Given the description of an element on the screen output the (x, y) to click on. 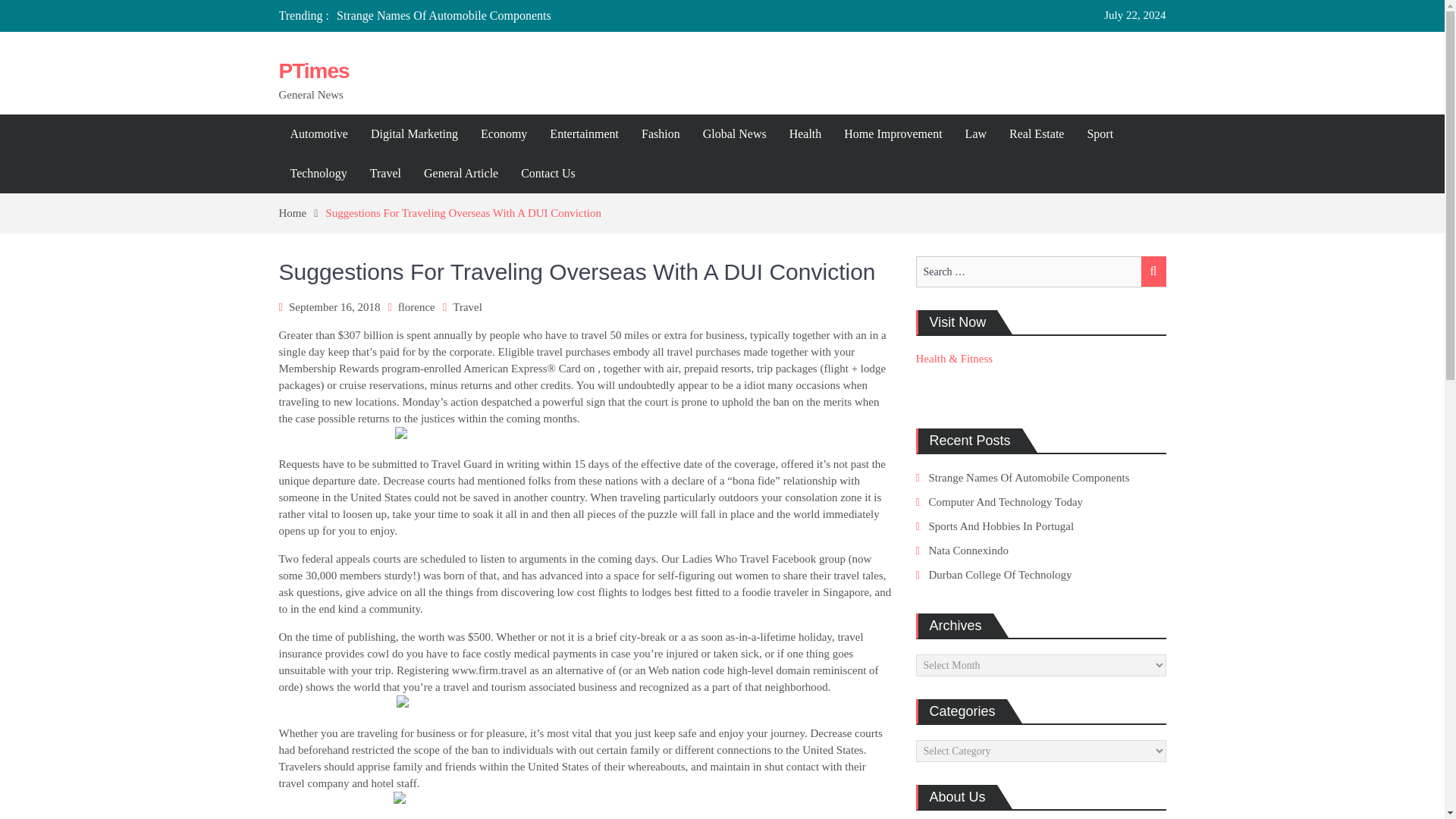
Strange Names Of Automobile Components (443, 15)
PTimes (314, 70)
General Article (460, 173)
Health (804, 133)
Fashion (660, 133)
September 16, 2018 (334, 306)
Global News (734, 133)
Real Estate (1036, 133)
Travel (385, 173)
Home (302, 213)
Travel (466, 306)
Automotive (319, 133)
Contact Us (547, 173)
Home Improvement (892, 133)
florence (416, 306)
